Given the description of an element on the screen output the (x, y) to click on. 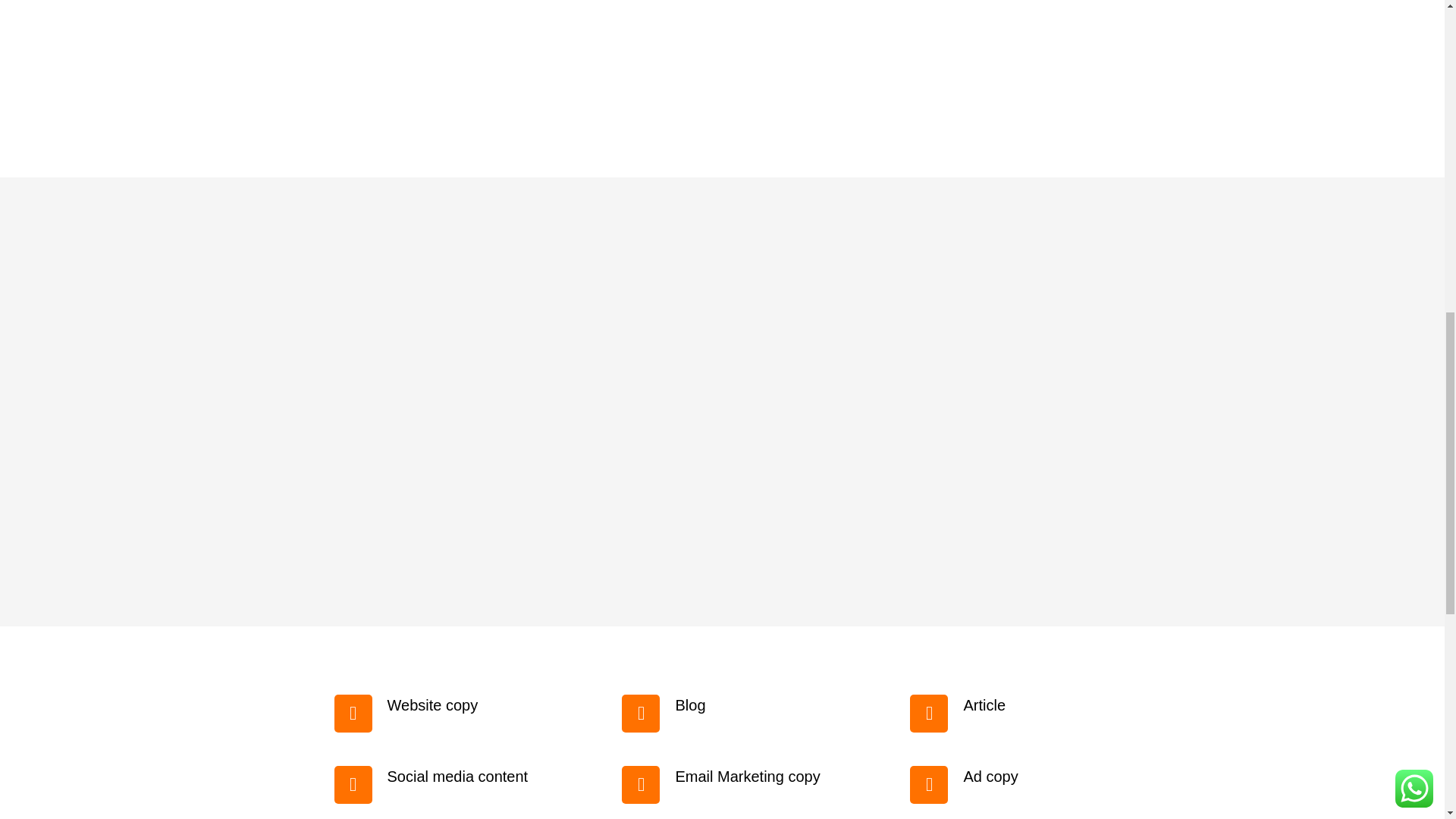
Website copy (432, 704)
Email Marketing copy (747, 776)
Article (984, 704)
Ad copy (989, 776)
Blog (689, 704)
Social media content (457, 776)
